Given the description of an element on the screen output the (x, y) to click on. 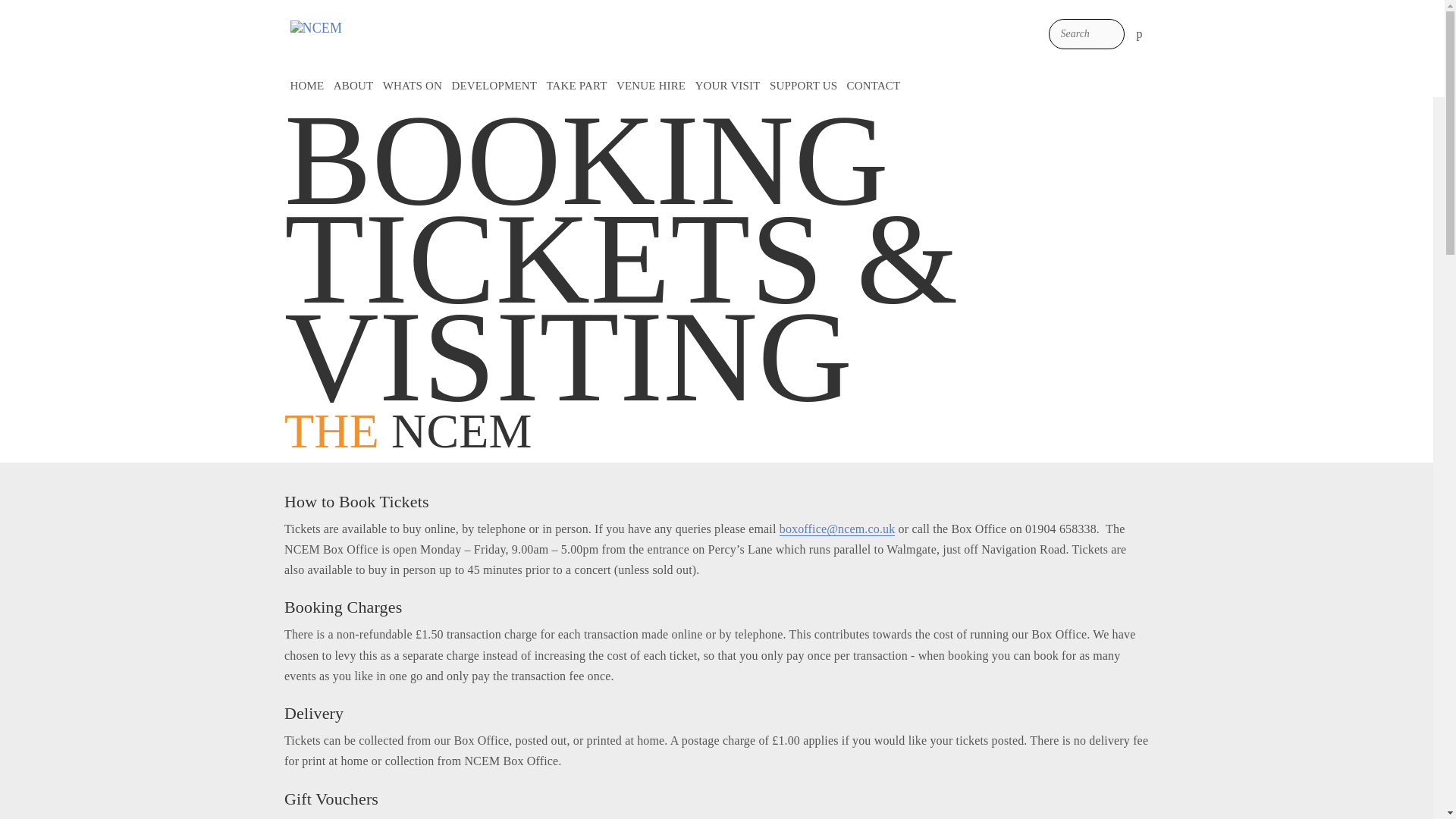
HOME (306, 87)
TAKE PART (576, 87)
VENUE HIRE (650, 87)
WHATS ON (412, 87)
DEVELOPMENT (494, 87)
ABOUT (352, 87)
